Given the description of an element on the screen output the (x, y) to click on. 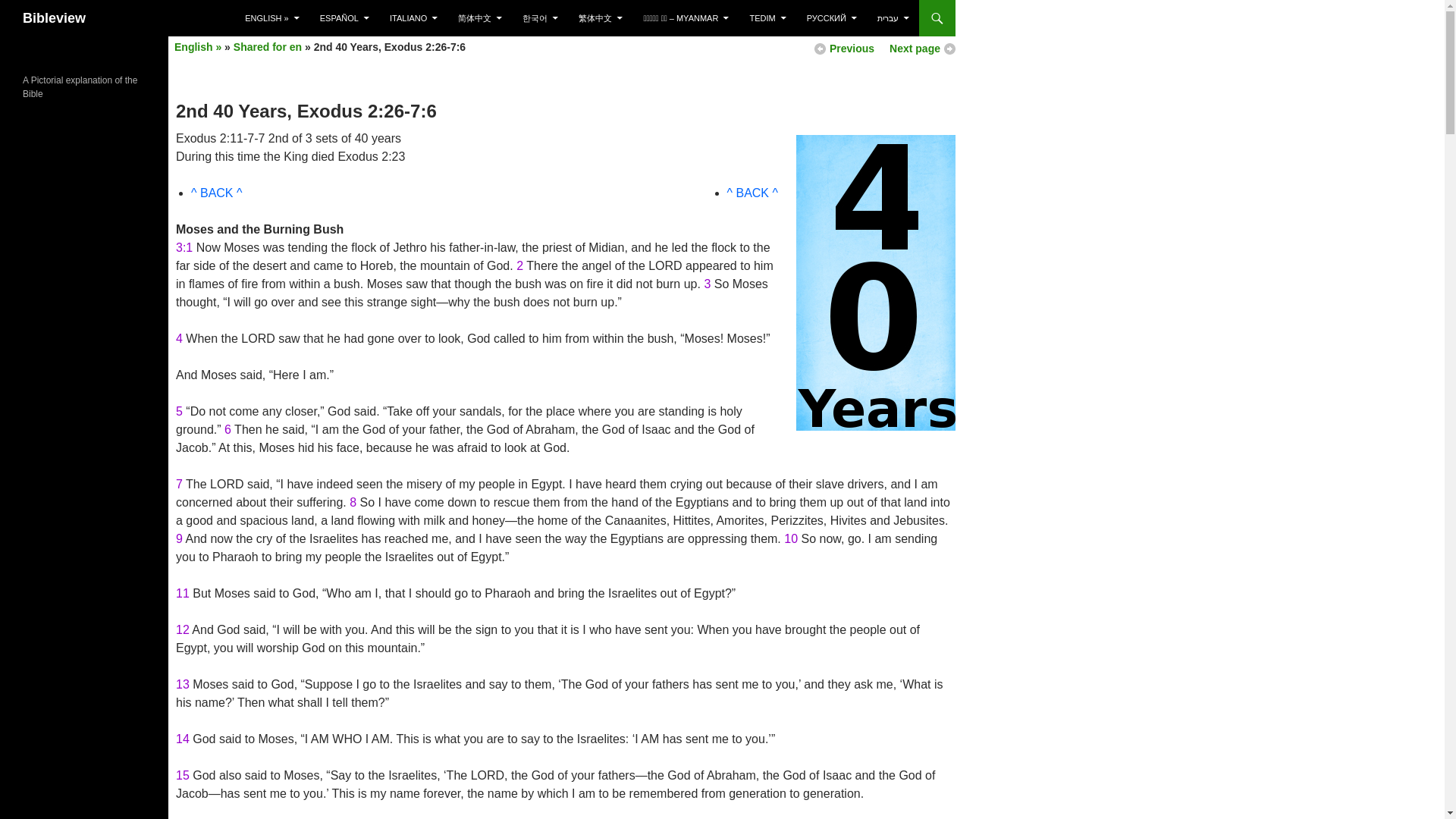
Bibleview (54, 18)
Jacob Moves to Egypt in a cart, Genesis 46:8 - 47:12 (851, 48)
Moses - 3rd set of 40 years, the book of Exodus 7:8 - 40:38 (922, 48)
TEDIM (766, 18)
Shared for en (266, 46)
Previous (851, 48)
Go to Shared for en. (266, 46)
Next page (922, 48)
ITALIANO (413, 18)
